Given the description of an element on the screen output the (x, y) to click on. 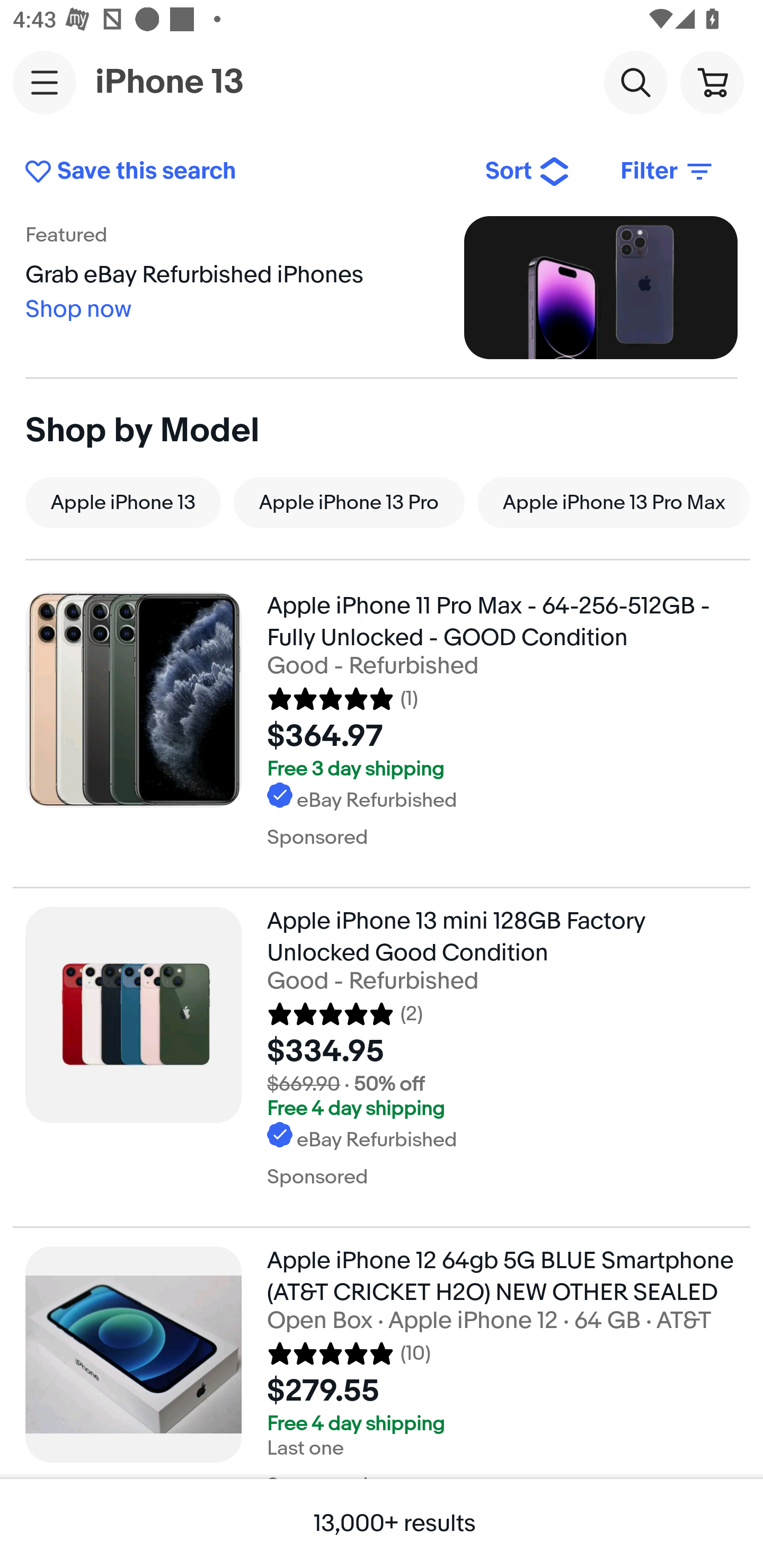
Main navigation, open (44, 82)
Search (635, 81)
Cart button shopping cart (711, 81)
Save this search (241, 171)
Sort (527, 171)
Filter (667, 171)
Featured Grab eBay Refurbished iPhones Shop now (381, 287)
Apple iPhone 13 Apple iPhone 13, Model (123, 502)
Apple iPhone 13 Pro Apple iPhone 13 Pro, Model (348, 502)
